Given the description of an element on the screen output the (x, y) to click on. 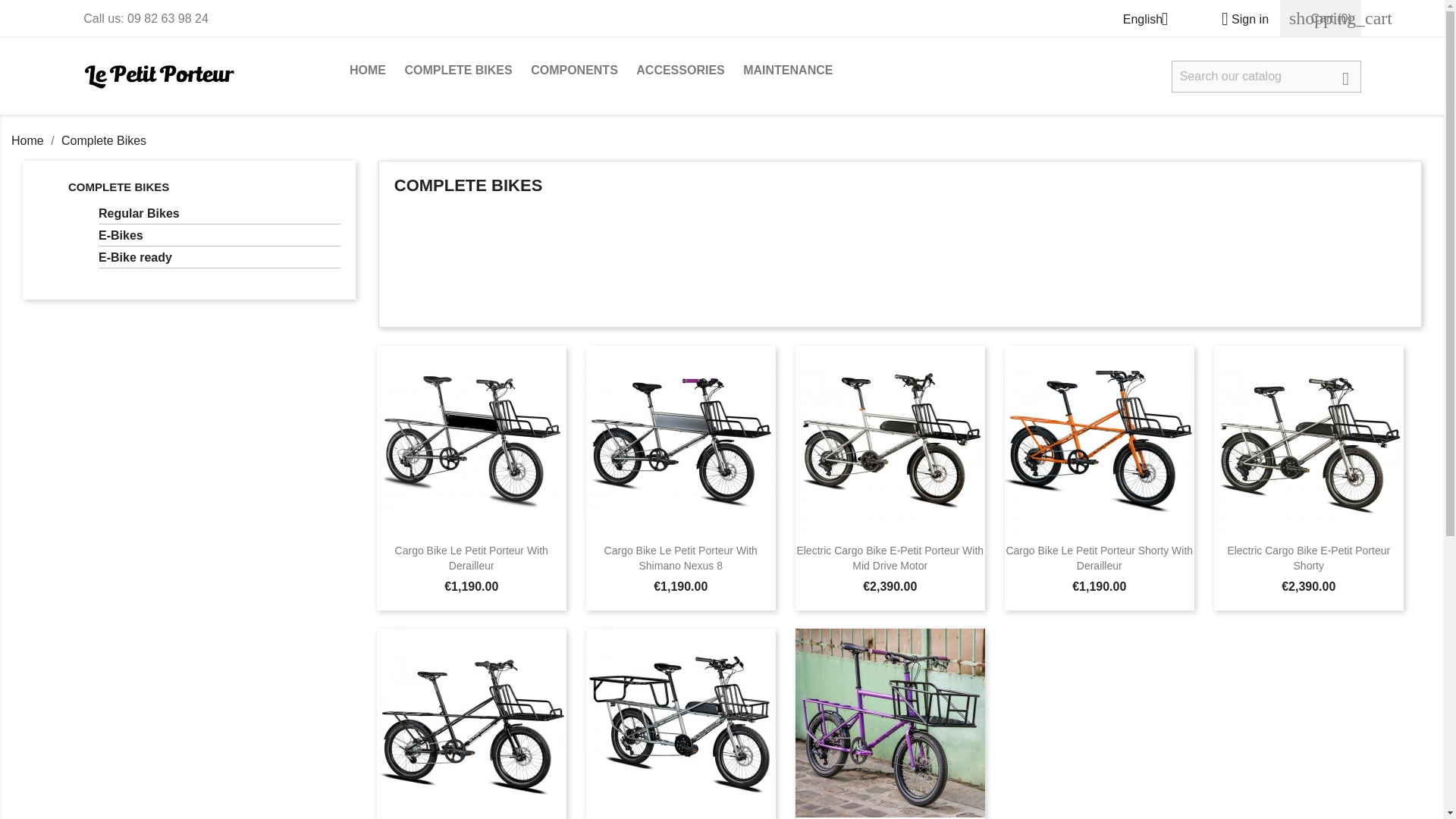
Regular Bikes (219, 215)
MAINTENANCE (787, 71)
Log in to your customer account (1238, 19)
COMPONENTS (574, 71)
Complete Bikes (104, 140)
COMPLETE BIKES (118, 186)
ACCESSORIES (680, 71)
HOME (367, 71)
COMPLETE BIKES (457, 71)
Home (28, 140)
